Given the description of an element on the screen output the (x, y) to click on. 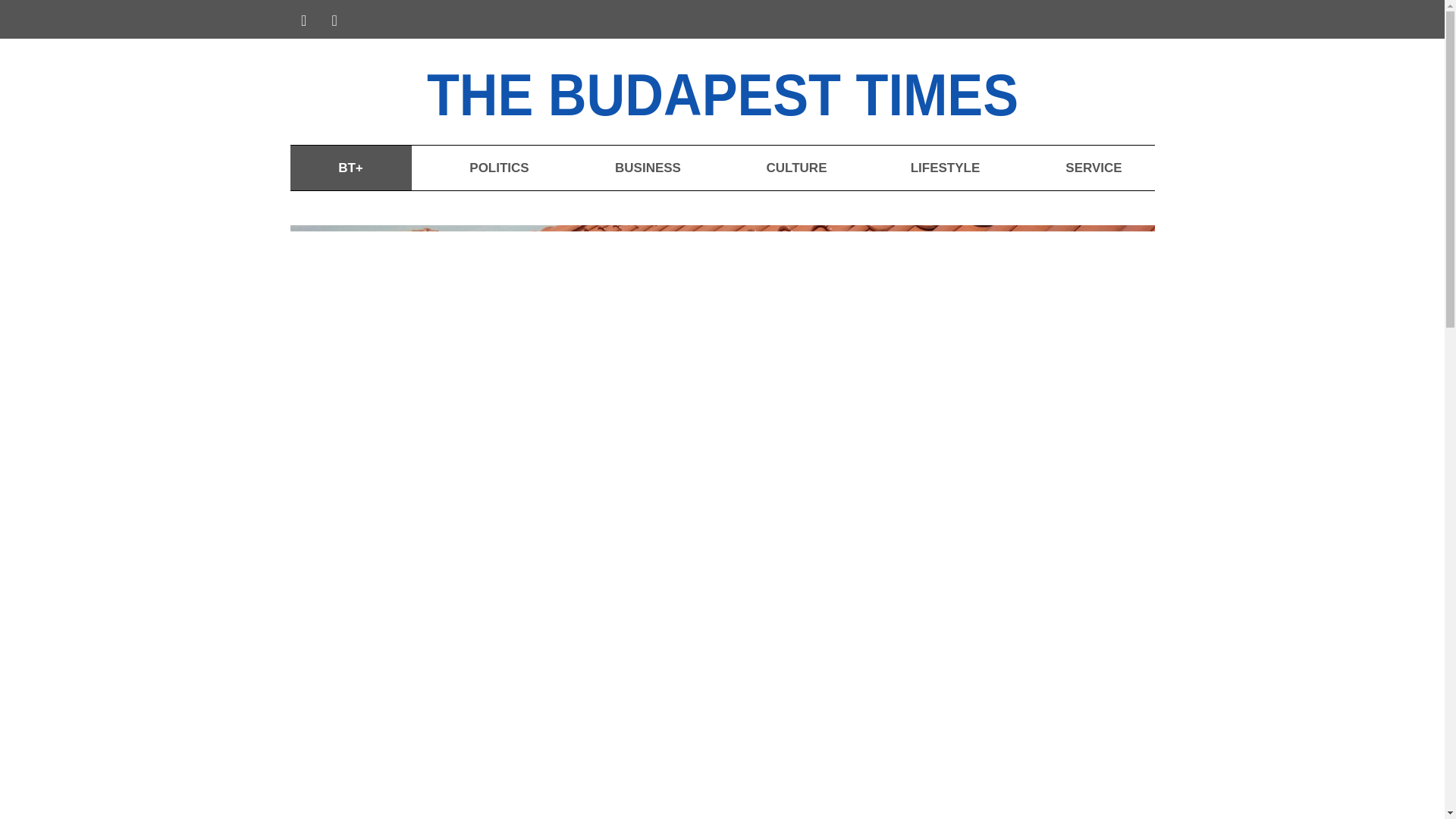
BUSINESS (646, 167)
CULTURE (796, 167)
SERVICE (1093, 167)
THE BUDAPEST TIMES (765, 91)
POLITICS (498, 167)
LIFESTYLE (944, 167)
Login (1131, 20)
